Given the description of an element on the screen output the (x, y) to click on. 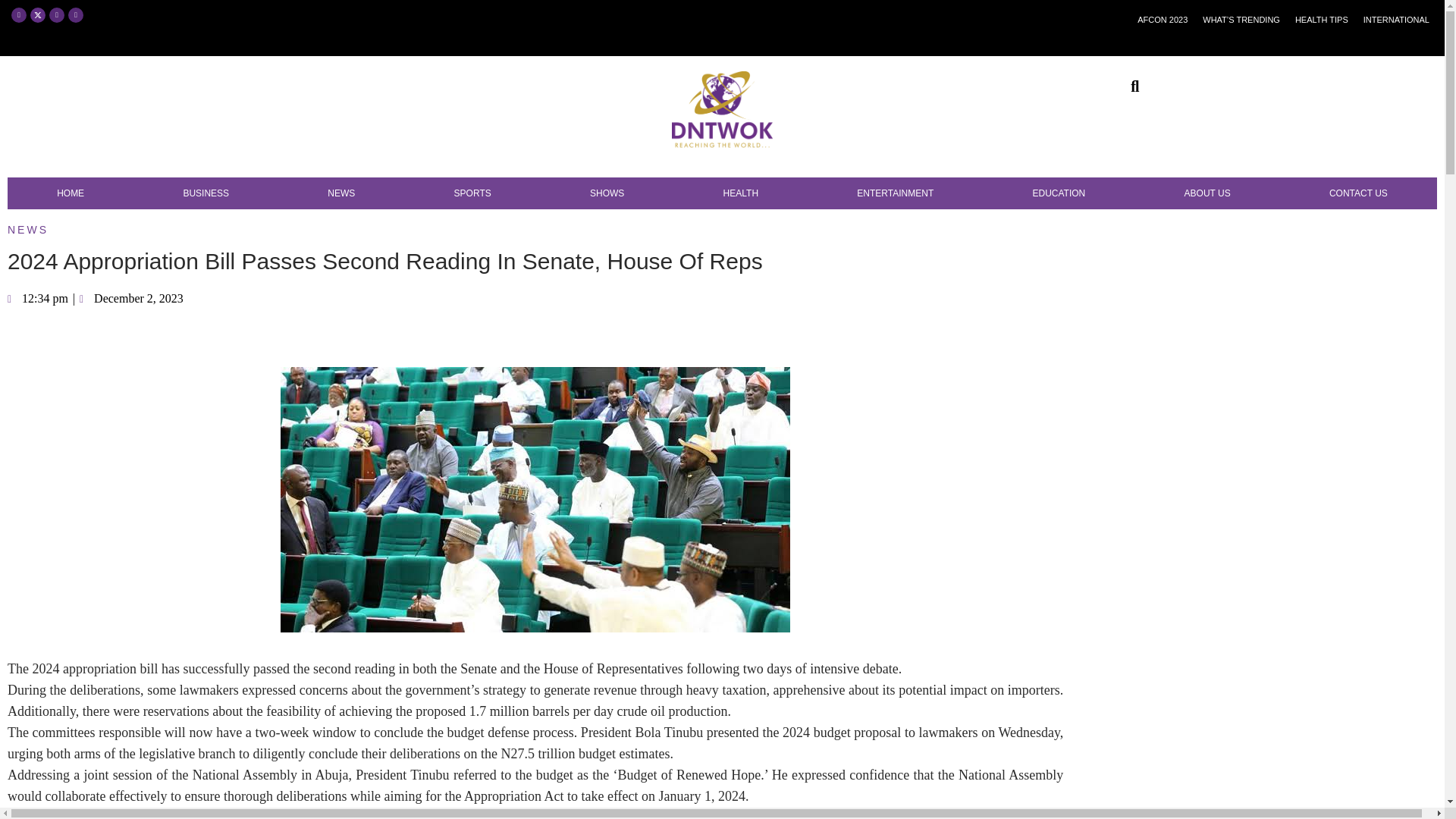
HEALTH (740, 193)
NEWS (341, 193)
ENTERTAINMENT (895, 193)
AFCON 2023 (1162, 19)
EDUCATION (1058, 193)
SPORTS (472, 193)
BUSINESS (205, 193)
Search (1127, 86)
SHOWS (607, 193)
HEALTH TIPS (1321, 19)
ABOUT US (1206, 193)
INTERNATIONAL (1396, 19)
CONTACT US (1358, 193)
HOME (70, 193)
